Given the description of an element on the screen output the (x, y) to click on. 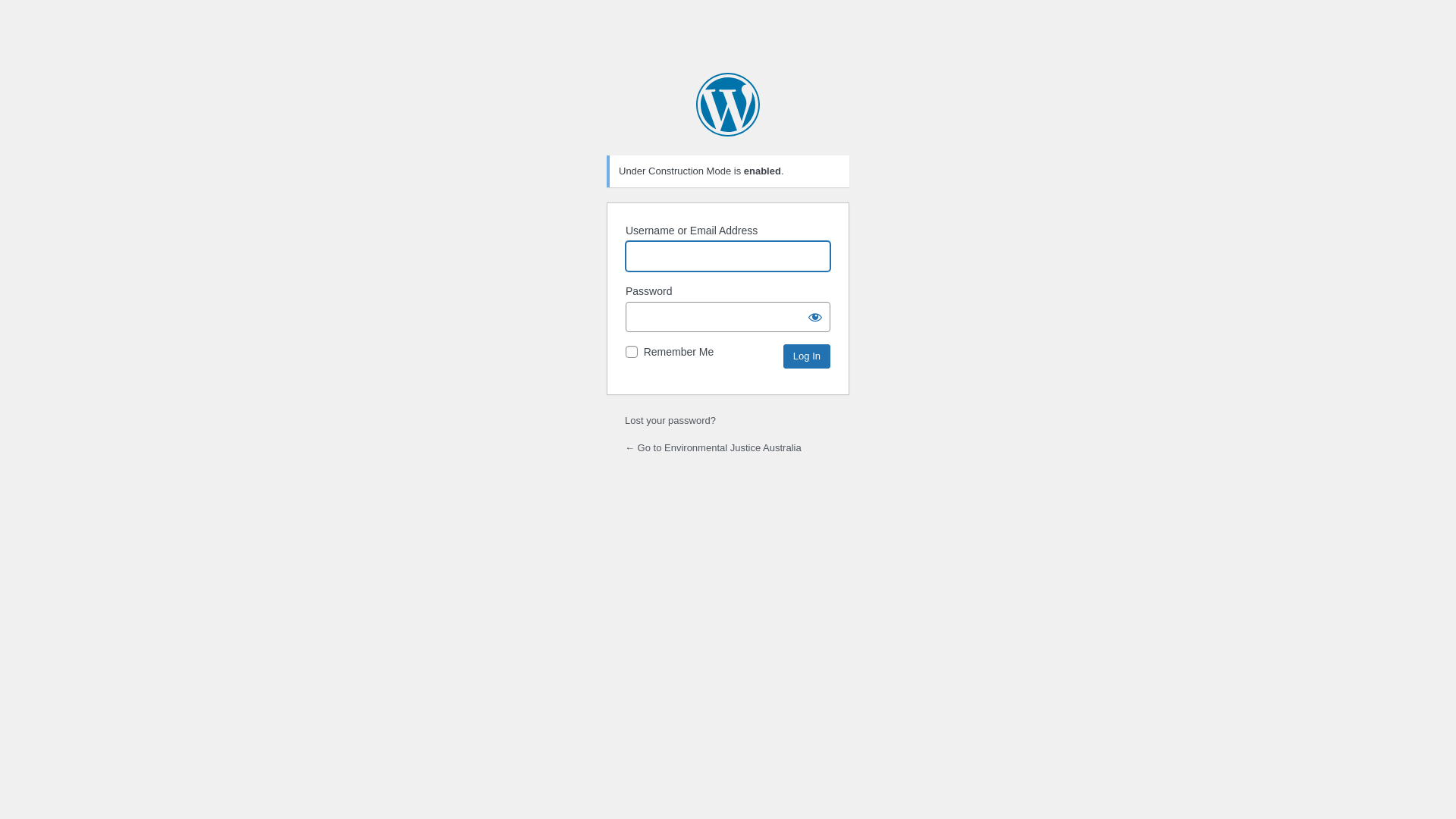
Log In Element type: text (806, 356)
Lost your password? Element type: text (669, 420)
Powered by WordPress Element type: text (727, 104)
